Given the description of an element on the screen output the (x, y) to click on. 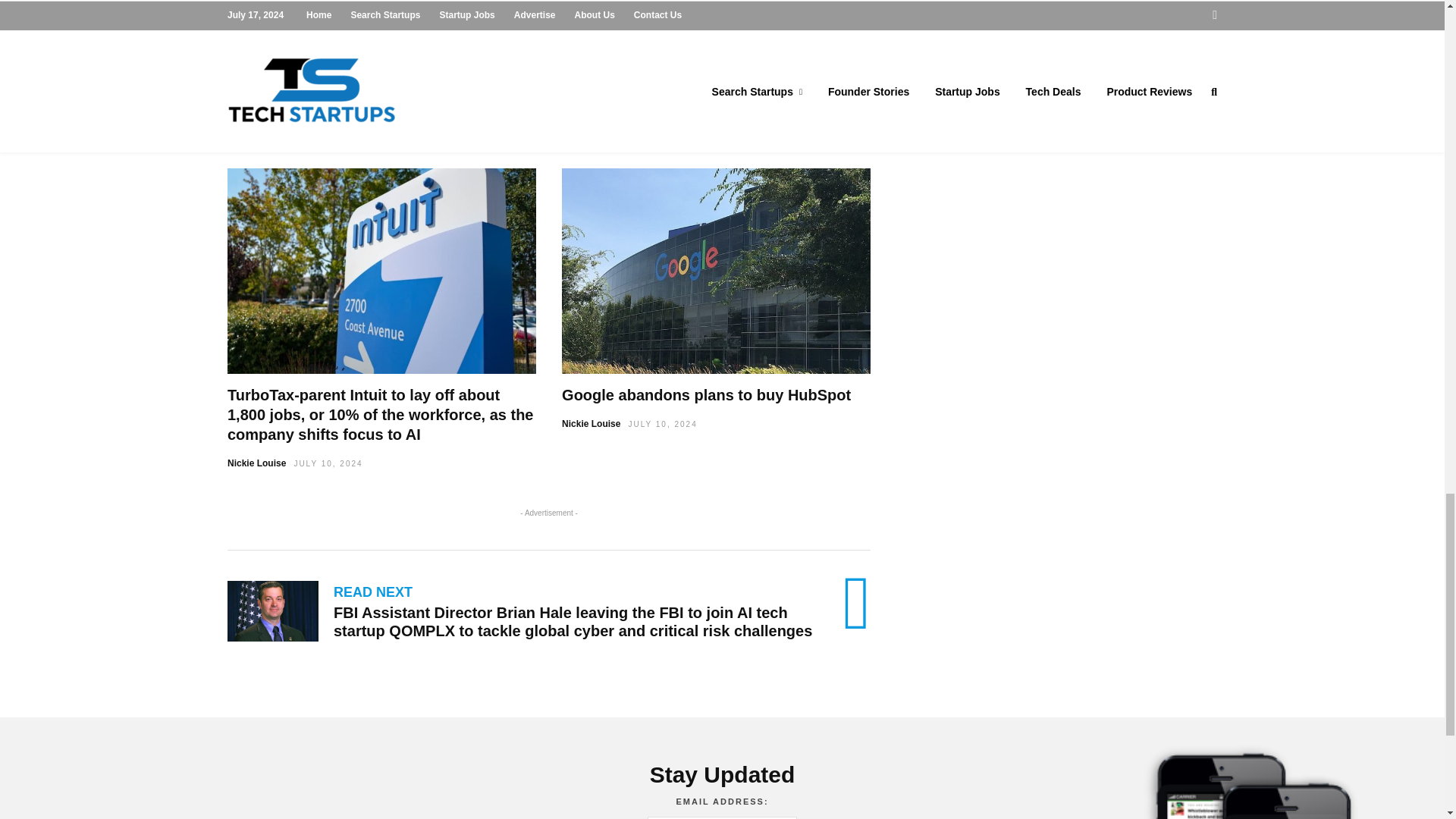
Share On Facebook (421, 46)
Share On Twitter (561, 46)
Share On Pinterest (637, 46)
Share by Email (736, 46)
Tweet It (561, 46)
Share On Facebook (421, 46)
